Given the description of an element on the screen output the (x, y) to click on. 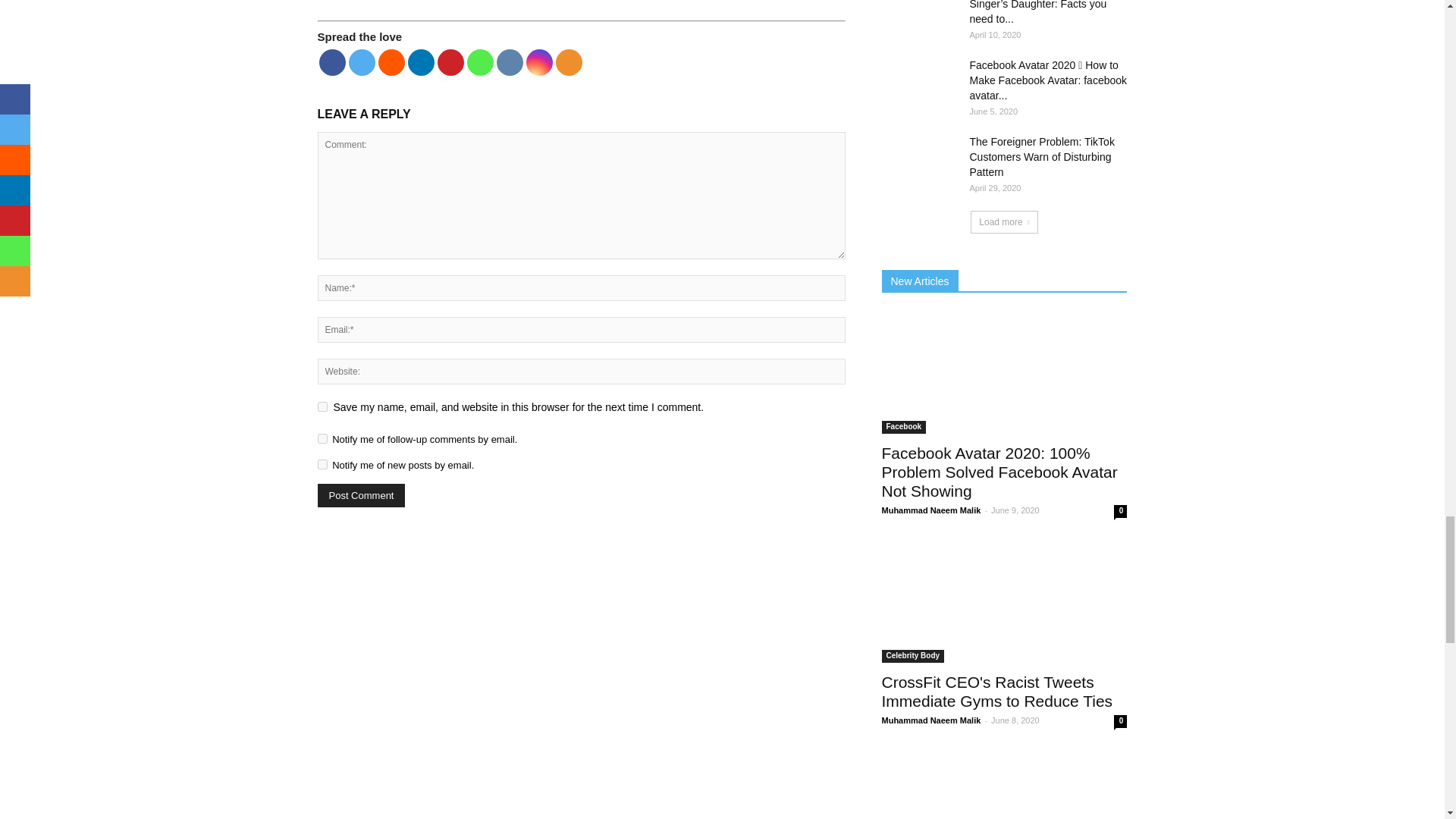
Pinterest (449, 62)
Post Comment (360, 495)
Whatsapp (480, 62)
yes (321, 406)
Reddit (390, 62)
Vkontakte (509, 62)
Twitter (362, 62)
subscribe (321, 438)
subscribe (321, 464)
Post Comment (360, 495)
Facebook (331, 62)
Linkedin (420, 62)
